Given the description of an element on the screen output the (x, y) to click on. 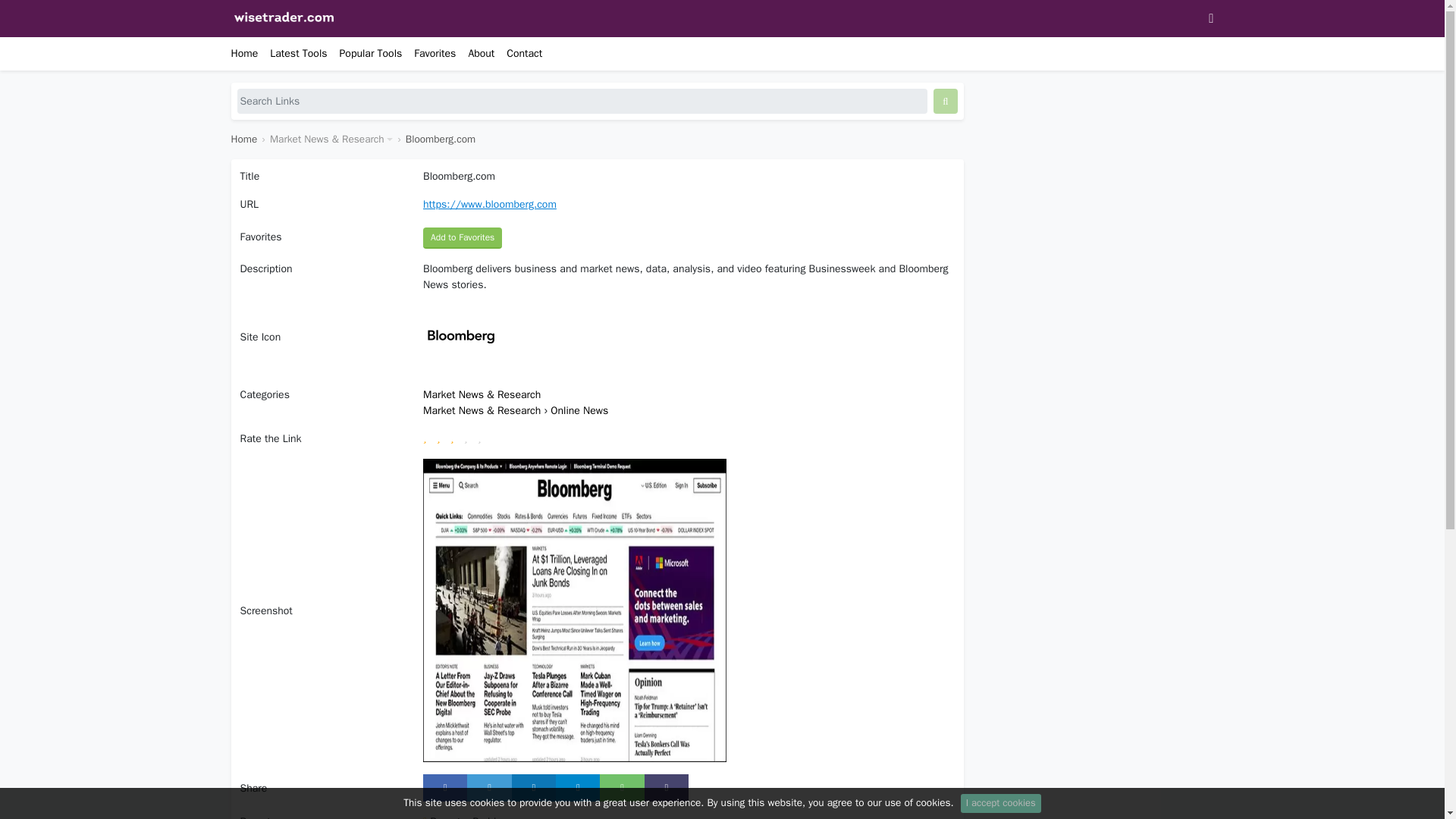
2 (442, 436)
Online News (579, 410)
Contact (518, 53)
Latest Tools (291, 53)
Home (243, 138)
About (475, 53)
1 (429, 436)
Favorites (428, 53)
Add to Favorites (462, 237)
5 (484, 436)
